Given the description of an element on the screen output the (x, y) to click on. 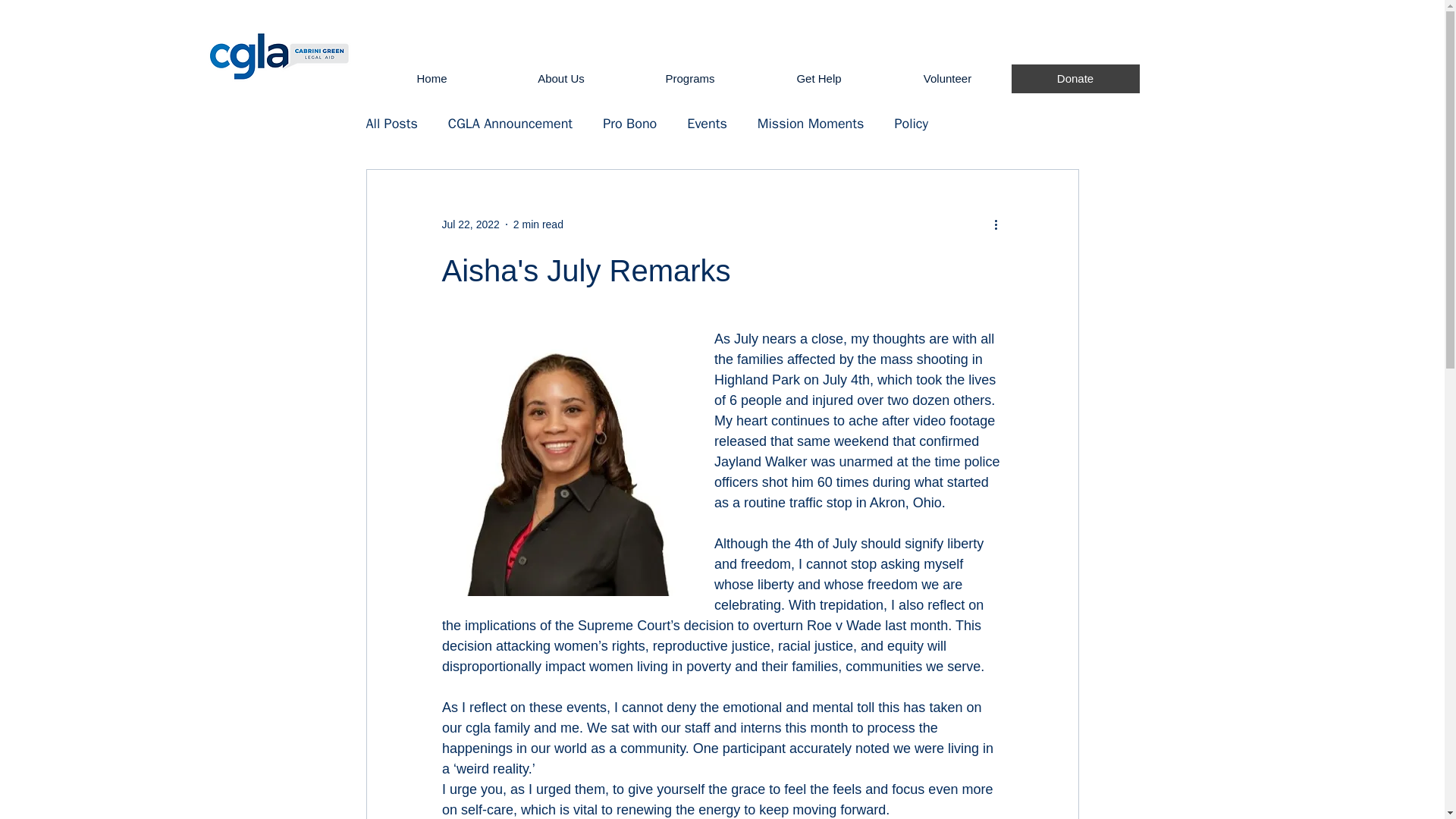
Jul 22, 2022 (470, 224)
All Posts (390, 123)
2 min read (538, 224)
CGLA Announcement (510, 123)
Get Help (818, 78)
Donate (1075, 78)
Home (431, 78)
Volunteer (946, 78)
Events (706, 123)
Programs (689, 78)
